Given the description of an element on the screen output the (x, y) to click on. 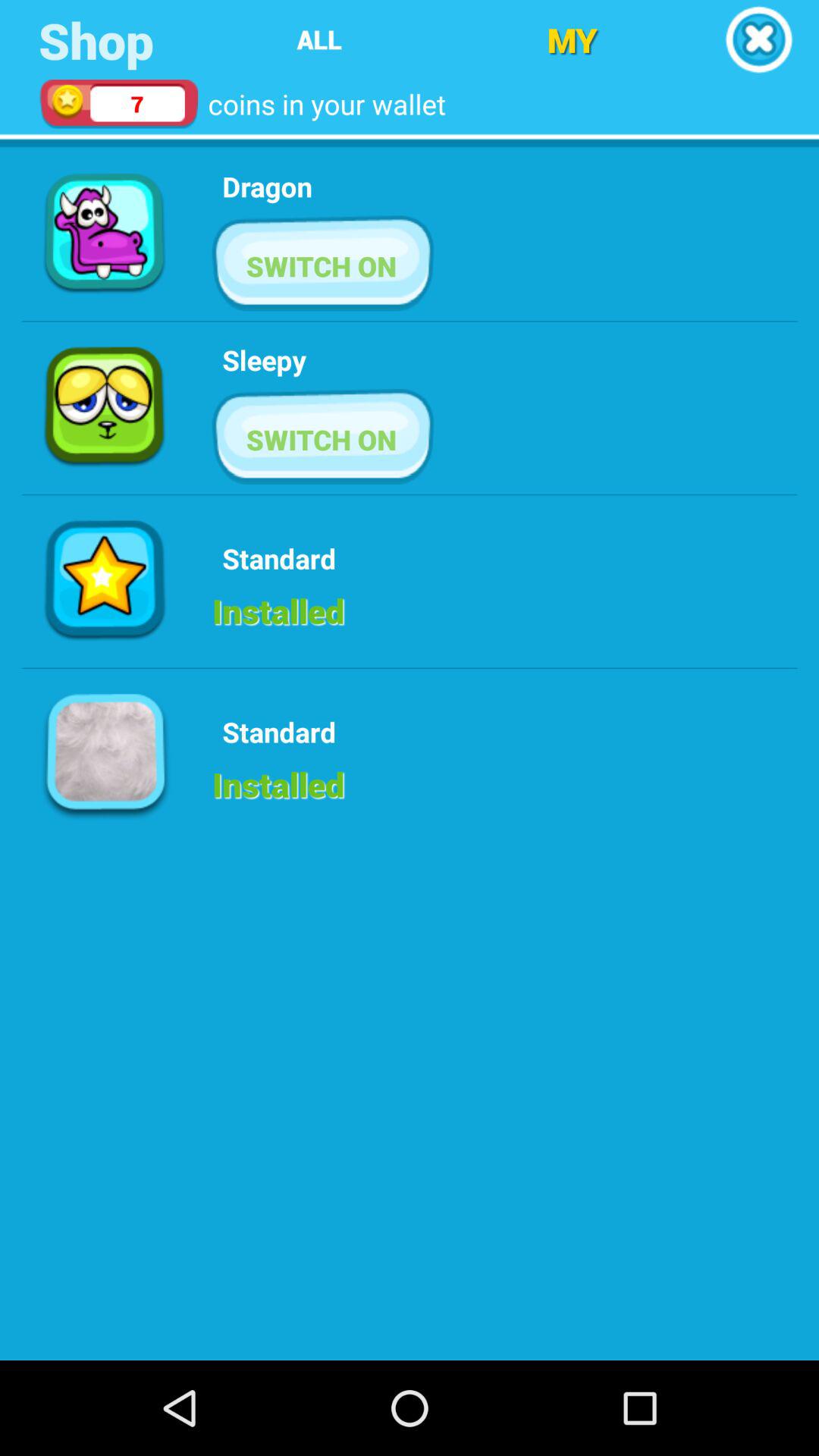
select icon next to my (758, 39)
